Given the description of an element on the screen output the (x, y) to click on. 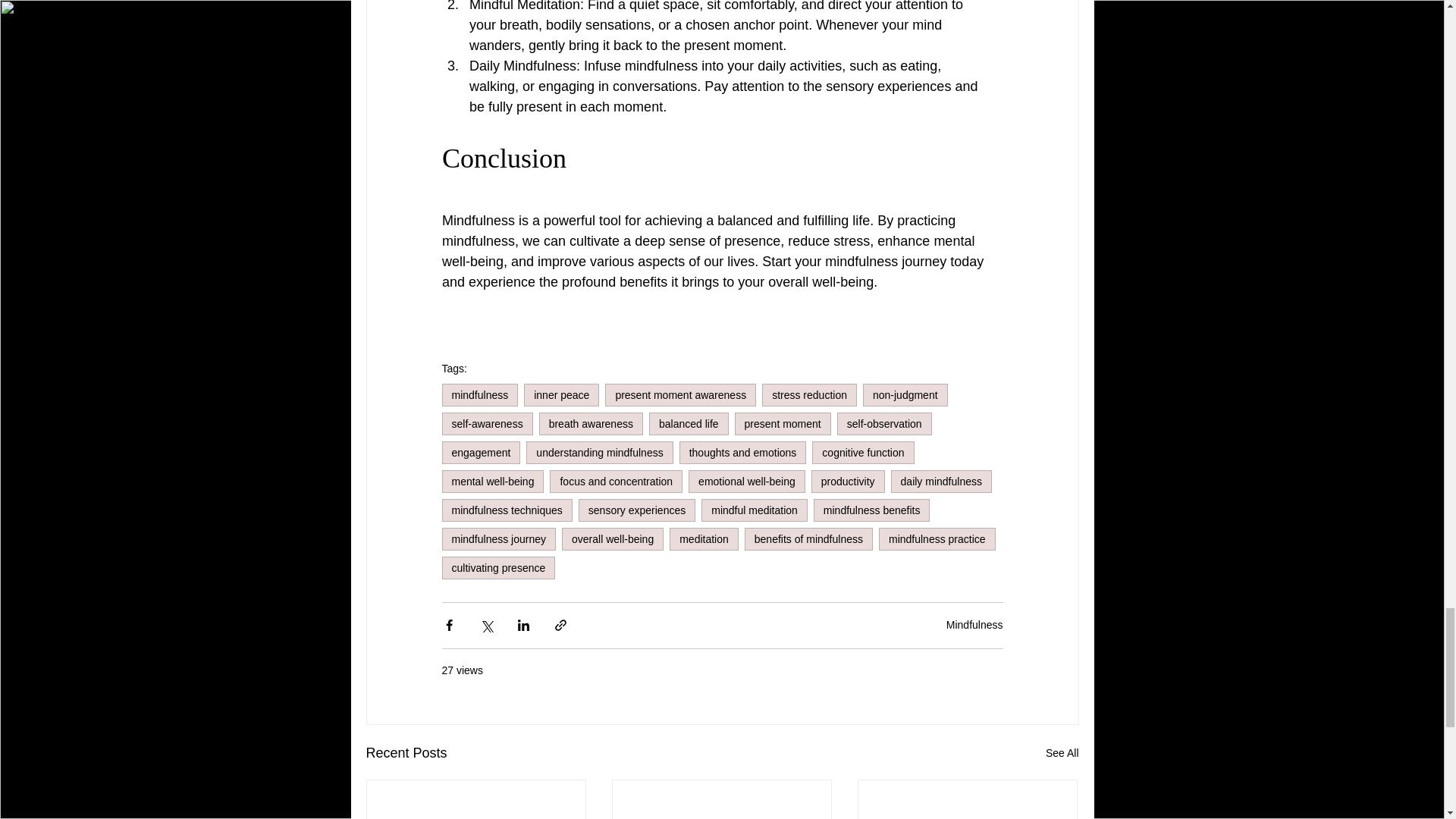
benefits of mindfulness (808, 538)
emotional well-being (746, 481)
present moment (783, 423)
mental well-being (492, 481)
self-observation (884, 423)
mindfulness journey (498, 538)
mindfulness techniques (506, 509)
cultivating presence (497, 567)
sensory experiences (636, 509)
thoughts and emotions (742, 452)
meditation (703, 538)
daily mindfulness (941, 481)
focus and concentration (616, 481)
non-judgment (905, 395)
stress reduction (809, 395)
